Given the description of an element on the screen output the (x, y) to click on. 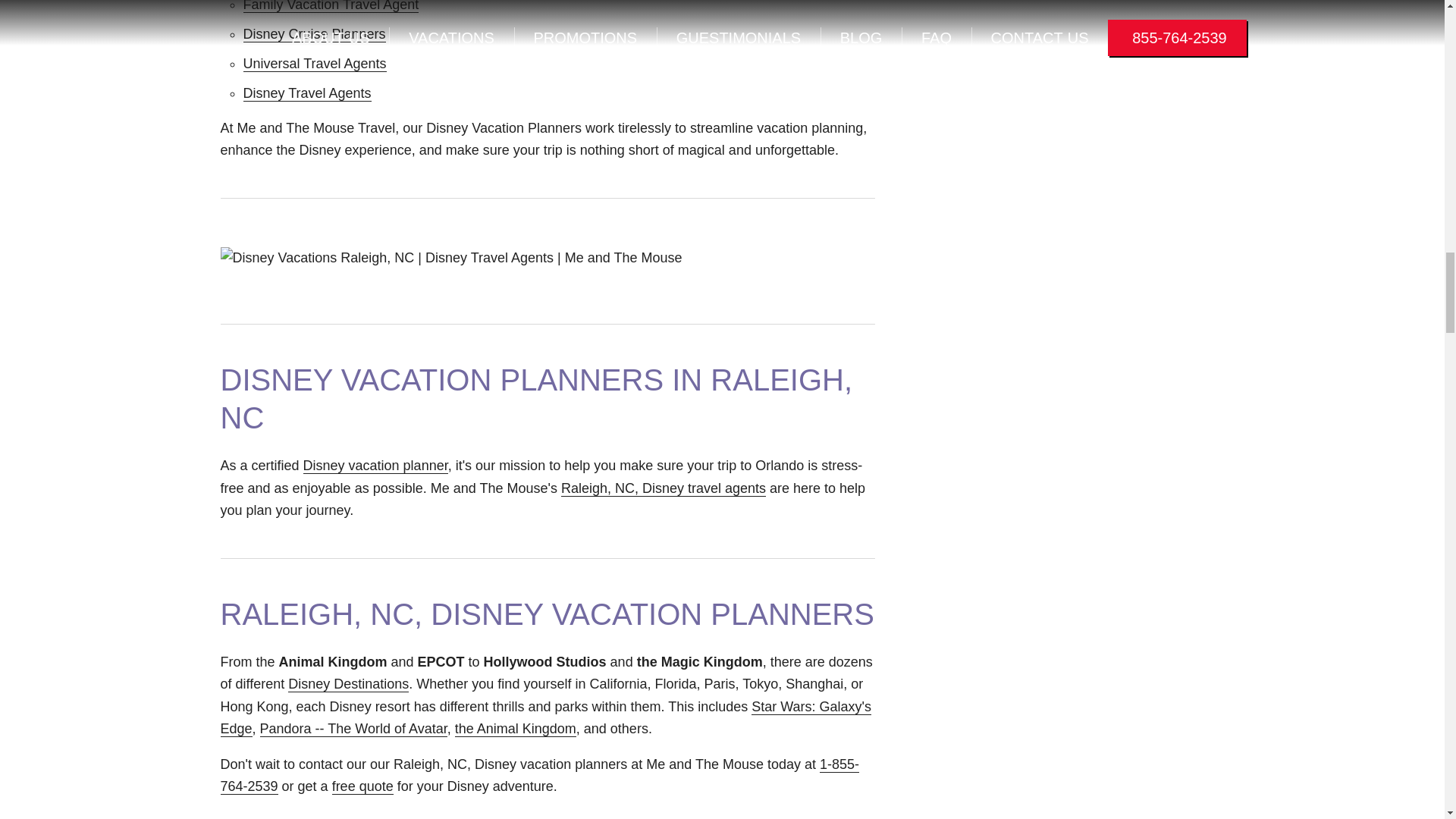
Pandora (353, 729)
Disney Destinations (348, 684)
Animal Kingdom (515, 729)
Galaxy's Edge (544, 718)
